Given the description of an element on the screen output the (x, y) to click on. 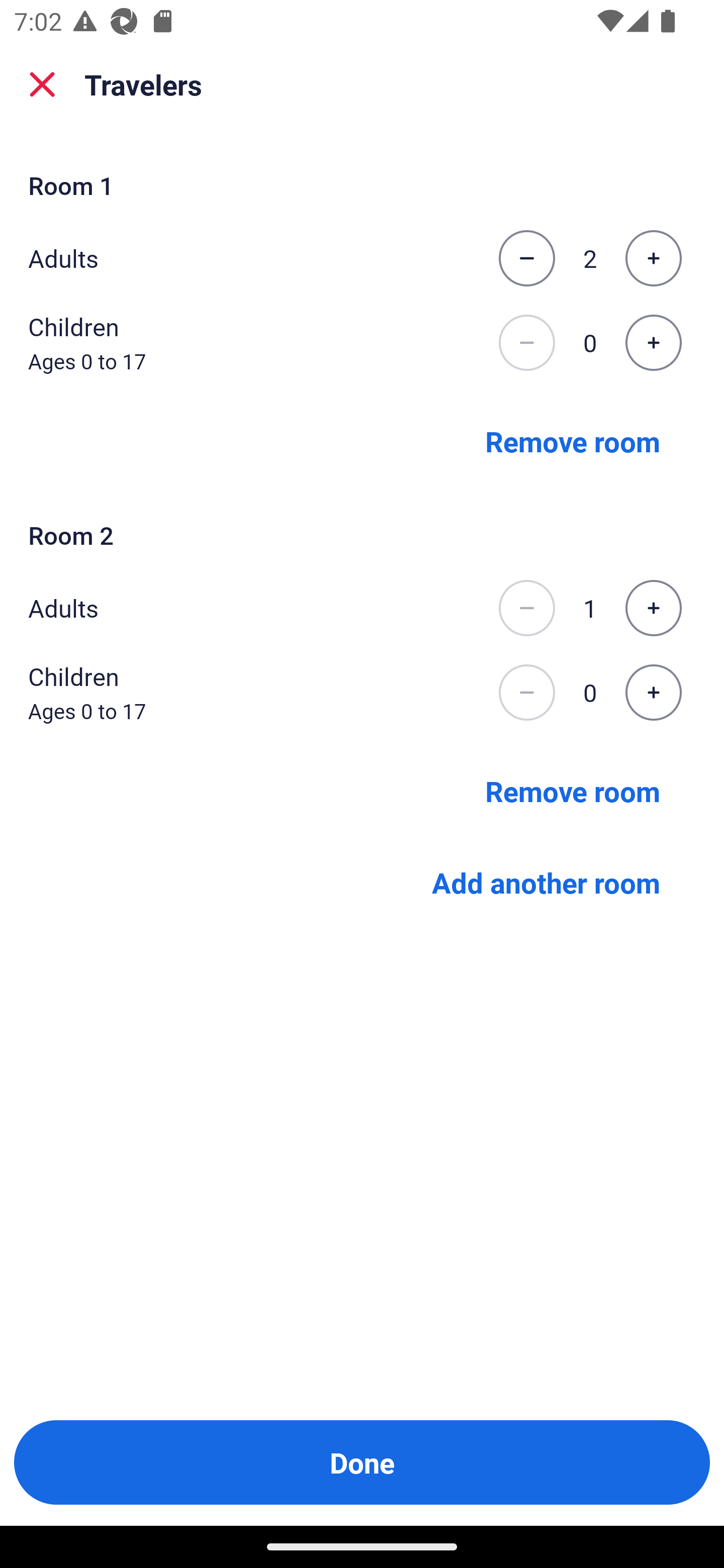
close (42, 84)
Decrease the number of adults (526, 258)
Increase the number of adults (653, 258)
Decrease the number of children (526, 343)
Increase the number of children (653, 343)
Remove room (572, 440)
Decrease the number of adults (526, 608)
Increase the number of adults (653, 608)
Decrease the number of children (526, 692)
Increase the number of children (653, 692)
Remove room (572, 790)
Add another room (545, 882)
Done (361, 1462)
